Given the description of an element on the screen output the (x, y) to click on. 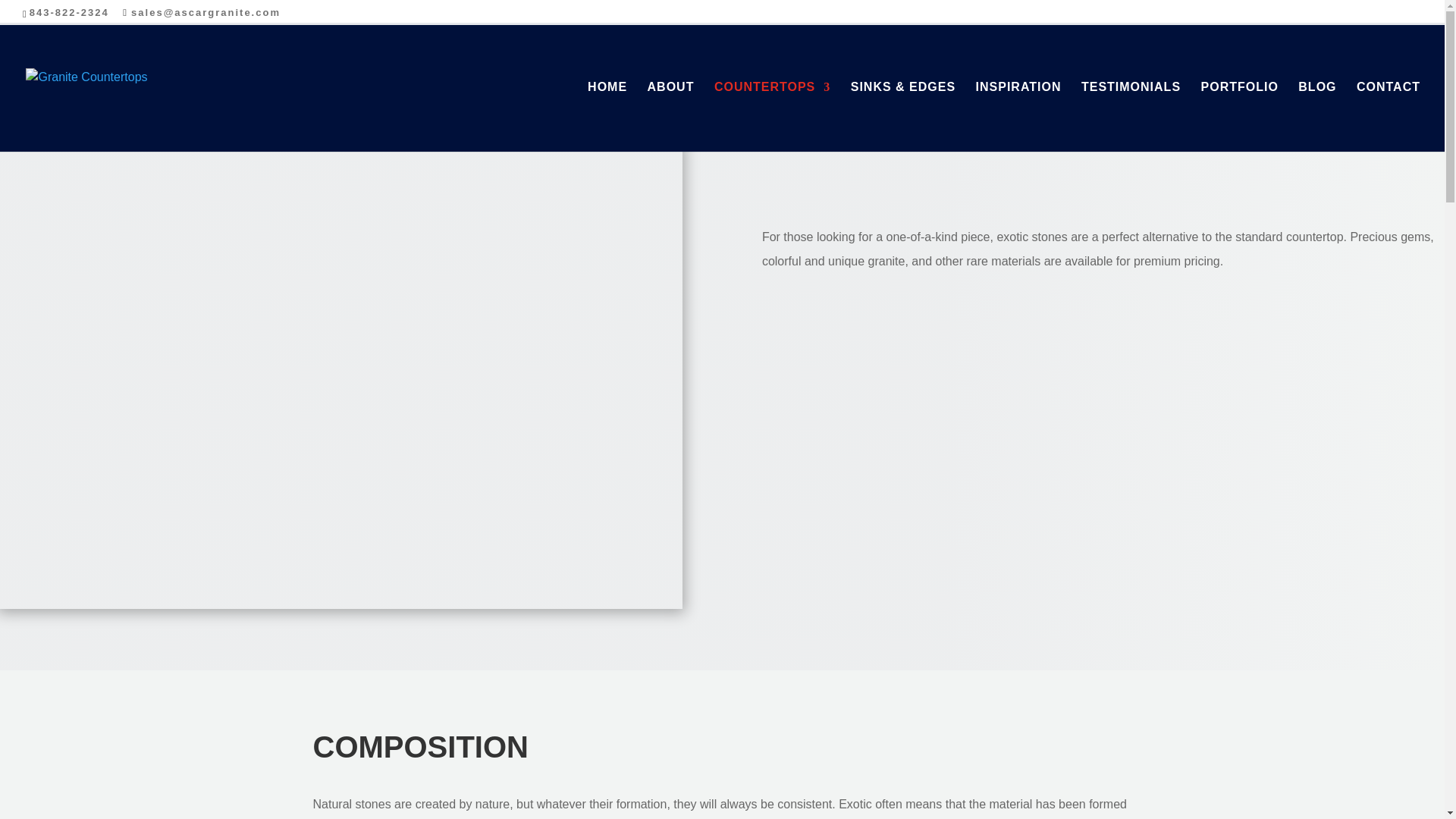
PORTFOLIO (1239, 116)
COUNTERTOPS (771, 116)
TESTIMONIALS (1130, 116)
INSPIRATION (1018, 116)
CONTACT (1388, 116)
